Given the description of an element on the screen output the (x, y) to click on. 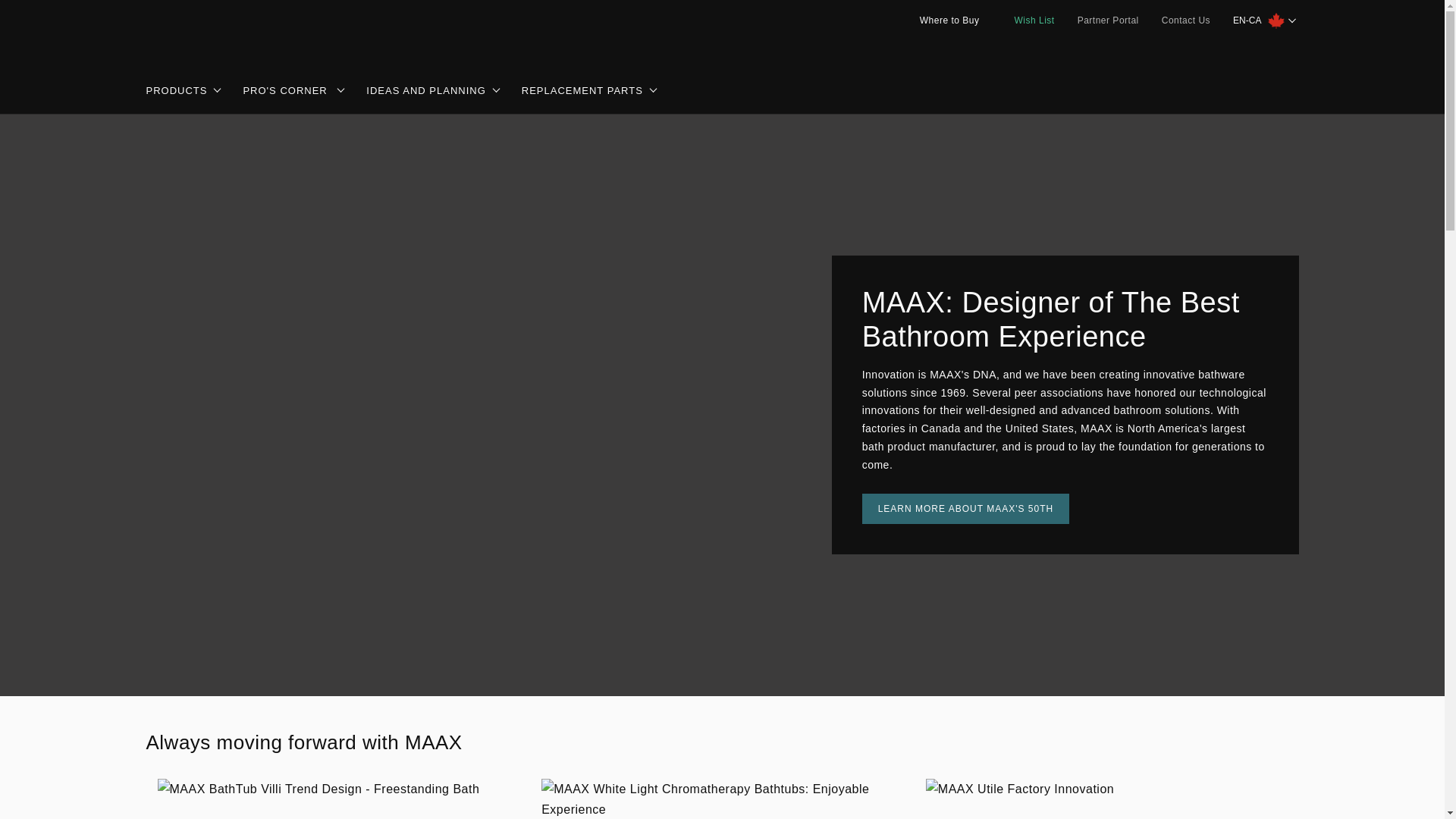
MAAX Canada (199, 33)
Contact Us (1185, 20)
Partner Portal (1107, 20)
Wish List (1027, 20)
Where to Buy (943, 20)
PRODUCTS (183, 90)
Contact Us (1185, 20)
MAAX CANADA (180, 90)
EN-CA (1264, 20)
Where to Buy (943, 20)
Wish List (1027, 20)
MAAX BathTub Villi Trend Design (338, 788)
MAAX Utile Factory Innovation (1106, 788)
Partner Portal (1107, 20)
